Given the description of an element on the screen output the (x, y) to click on. 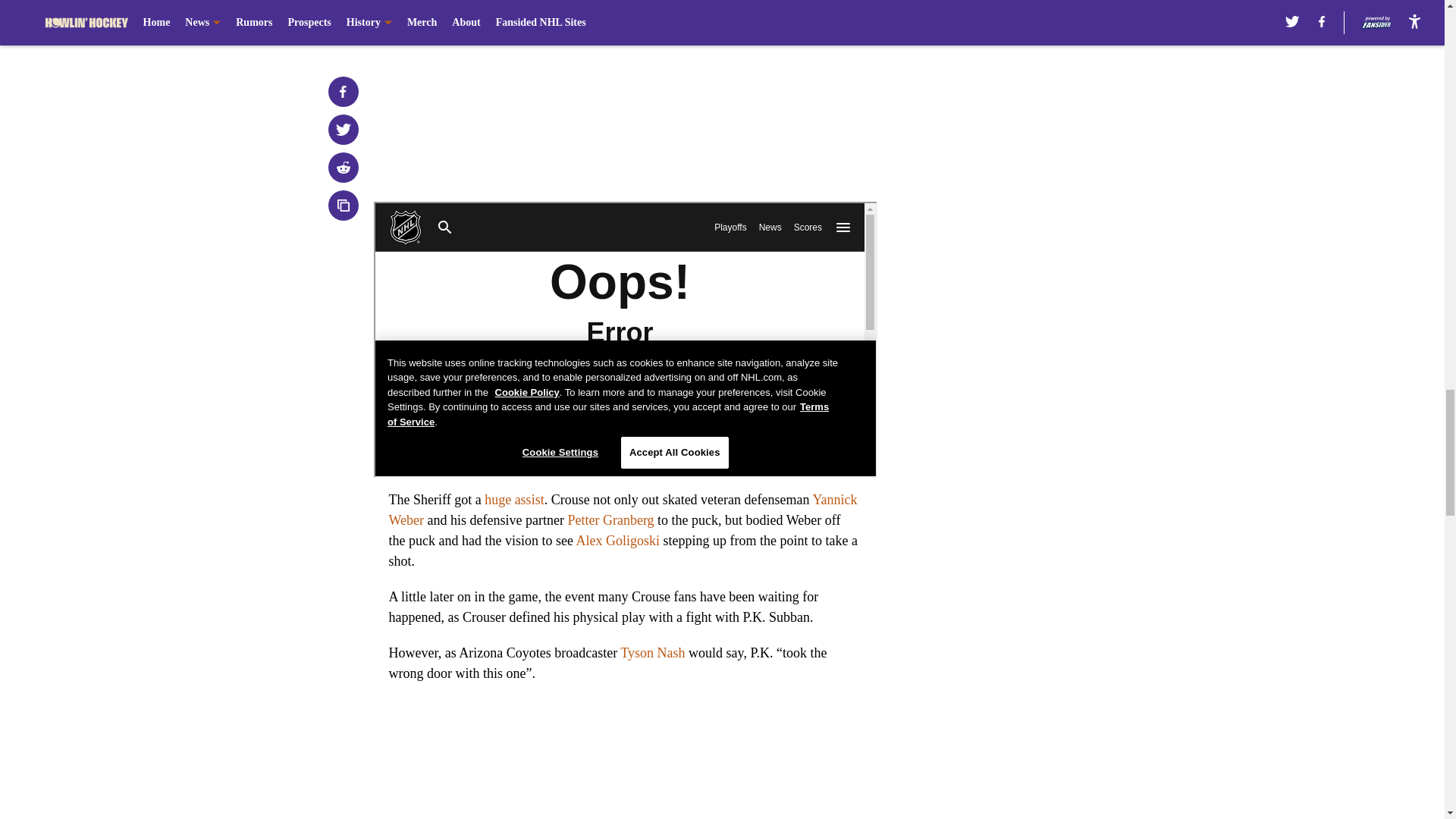
Tyson Nash (652, 652)
Yannick Weber (622, 509)
huge assist (514, 499)
Alex Goligoski (617, 540)
Petter Granberg (610, 519)
